Given the description of an element on the screen output the (x, y) to click on. 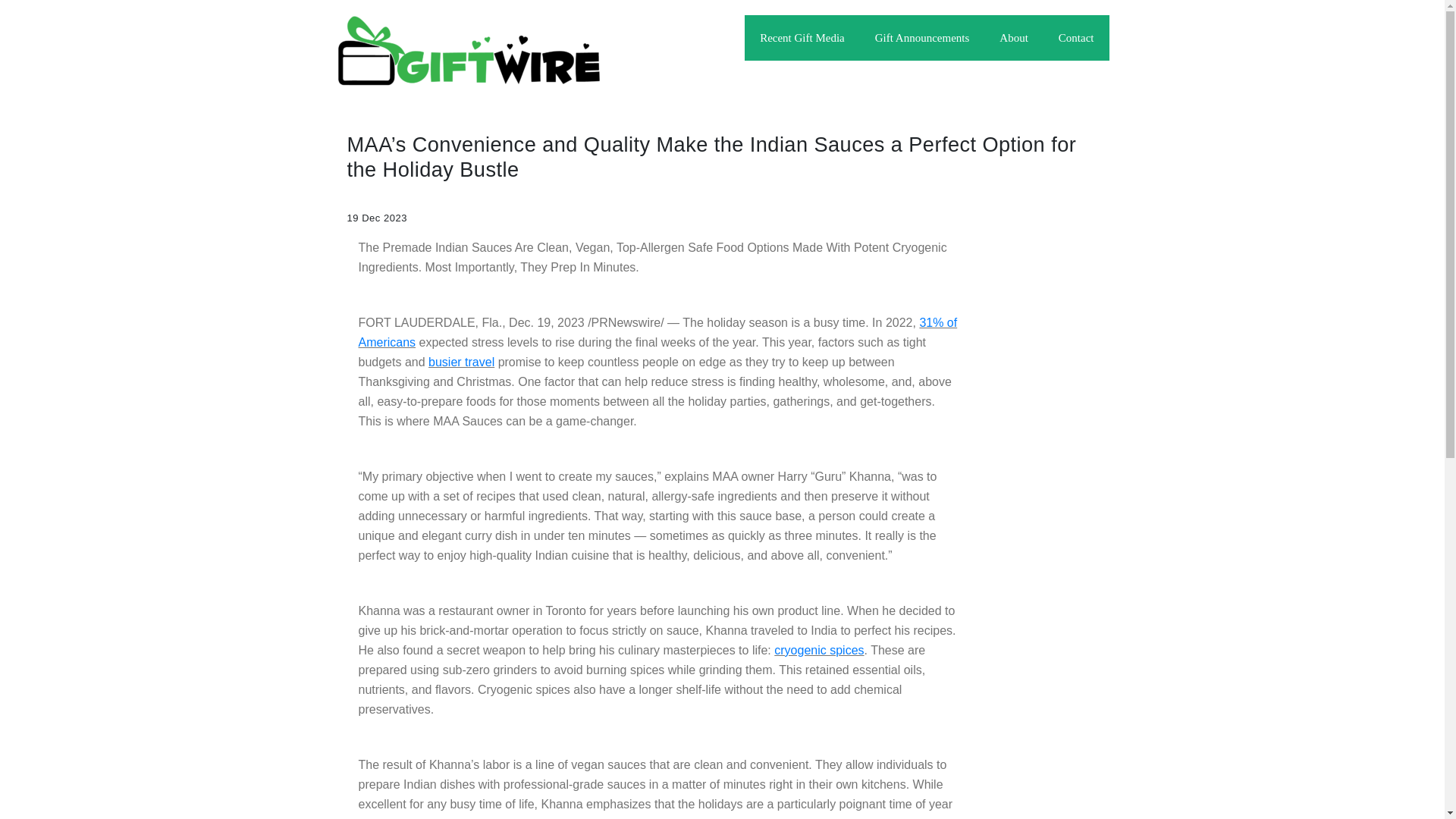
Gift Announcements (922, 37)
cryogenic spices (818, 649)
Contact (1076, 37)
Recent Gift Media (802, 37)
About (1013, 37)
busier travel (461, 361)
